Given the description of an element on the screen output the (x, y) to click on. 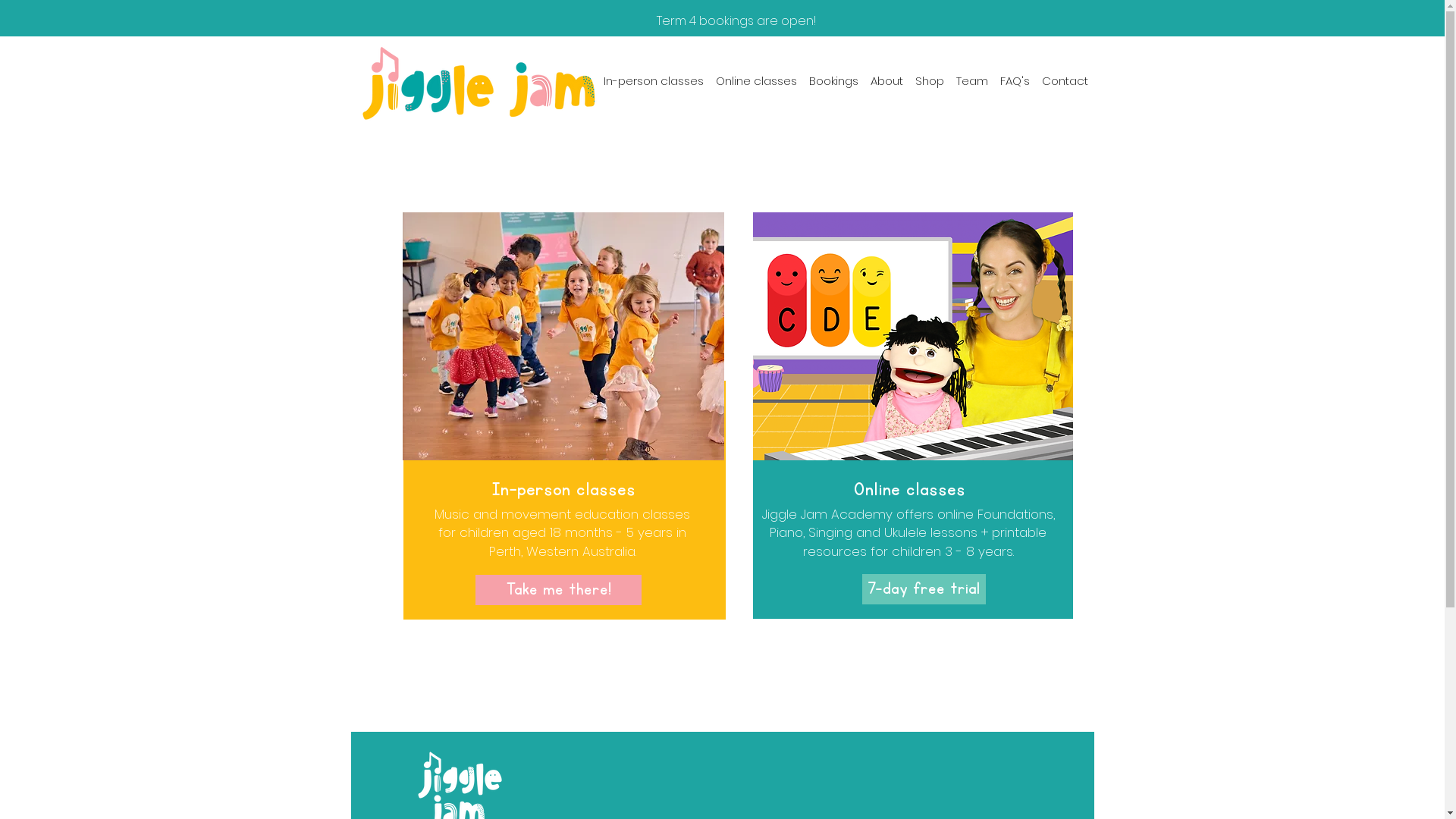
Contact Element type: text (1064, 80)
Online classes Element type: text (756, 80)
About Element type: text (886, 80)
In-person classes Element type: text (653, 80)
Team Element type: text (971, 80)
7-day free trial Element type: text (923, 589)
FAQ's Element type: text (1014, 80)
Shop Element type: text (928, 80)
Take me there! Element type: text (557, 589)
Bookings Element type: text (832, 80)
